Given the description of an element on the screen output the (x, y) to click on. 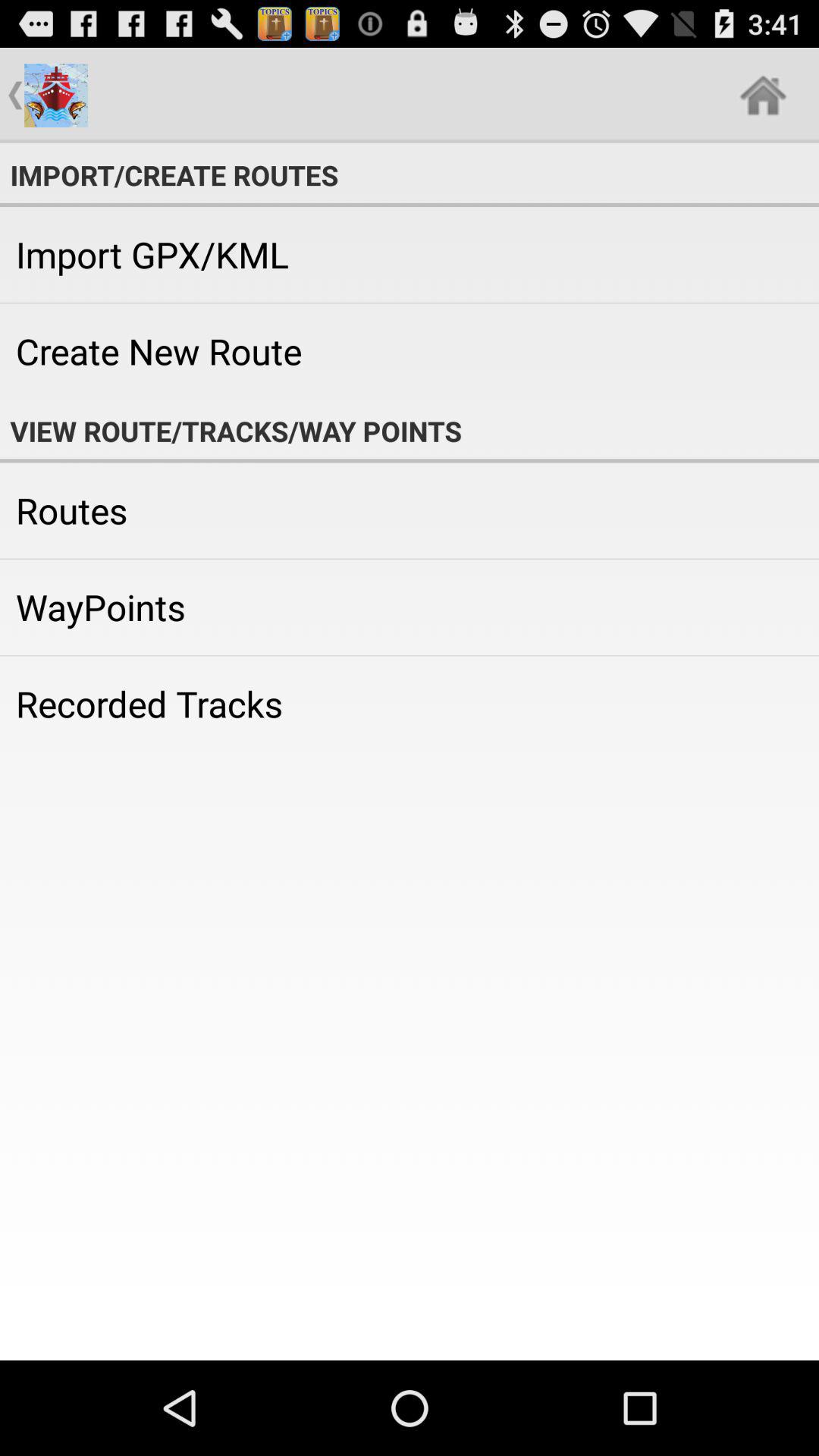
click the app below waypoints (409, 703)
